Given the description of an element on the screen output the (x, y) to click on. 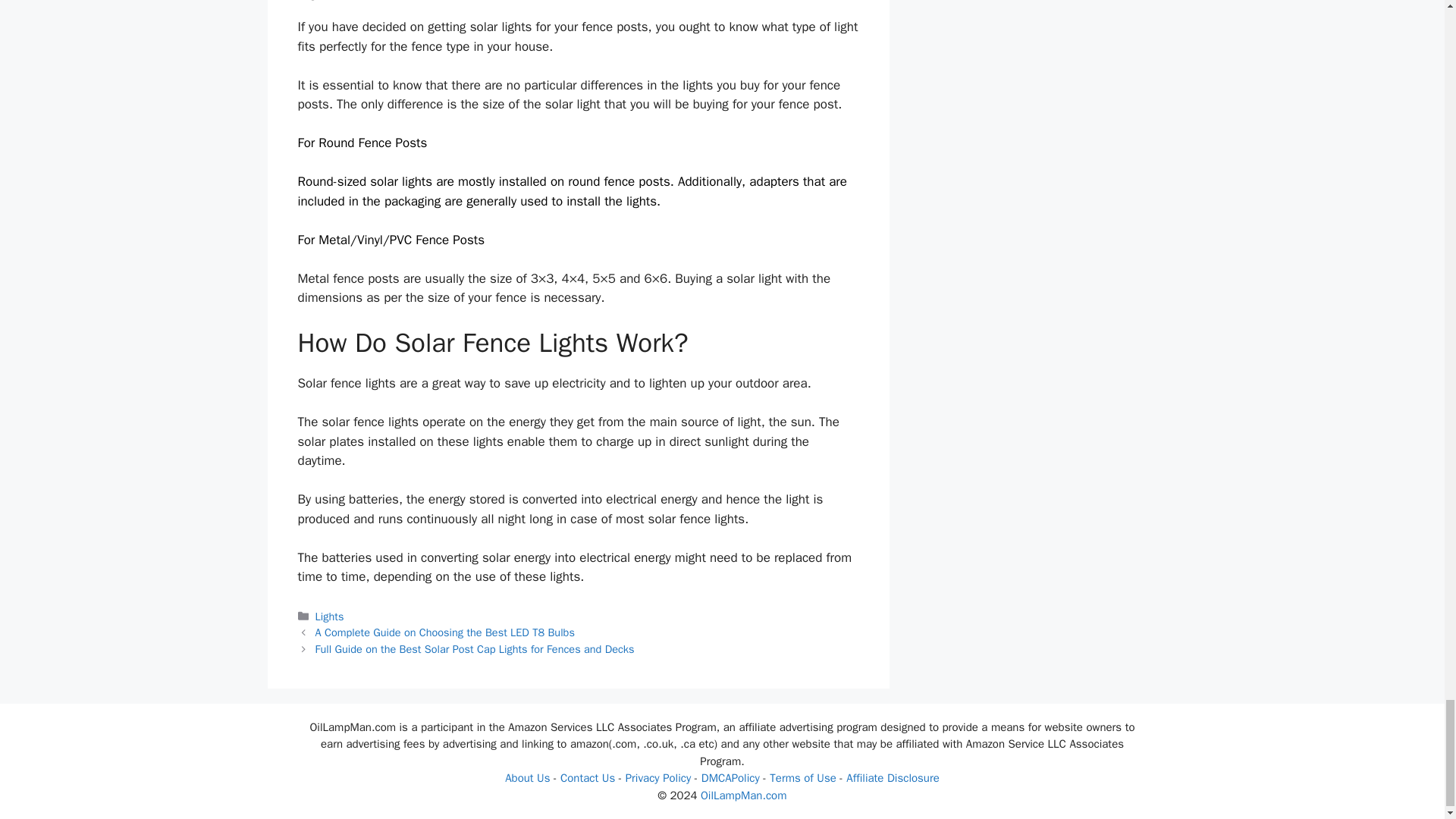
A Complete Guide on Choosing the Best LED T8 Bulbs (445, 632)
Lights (329, 616)
